Given the description of an element on the screen output the (x, y) to click on. 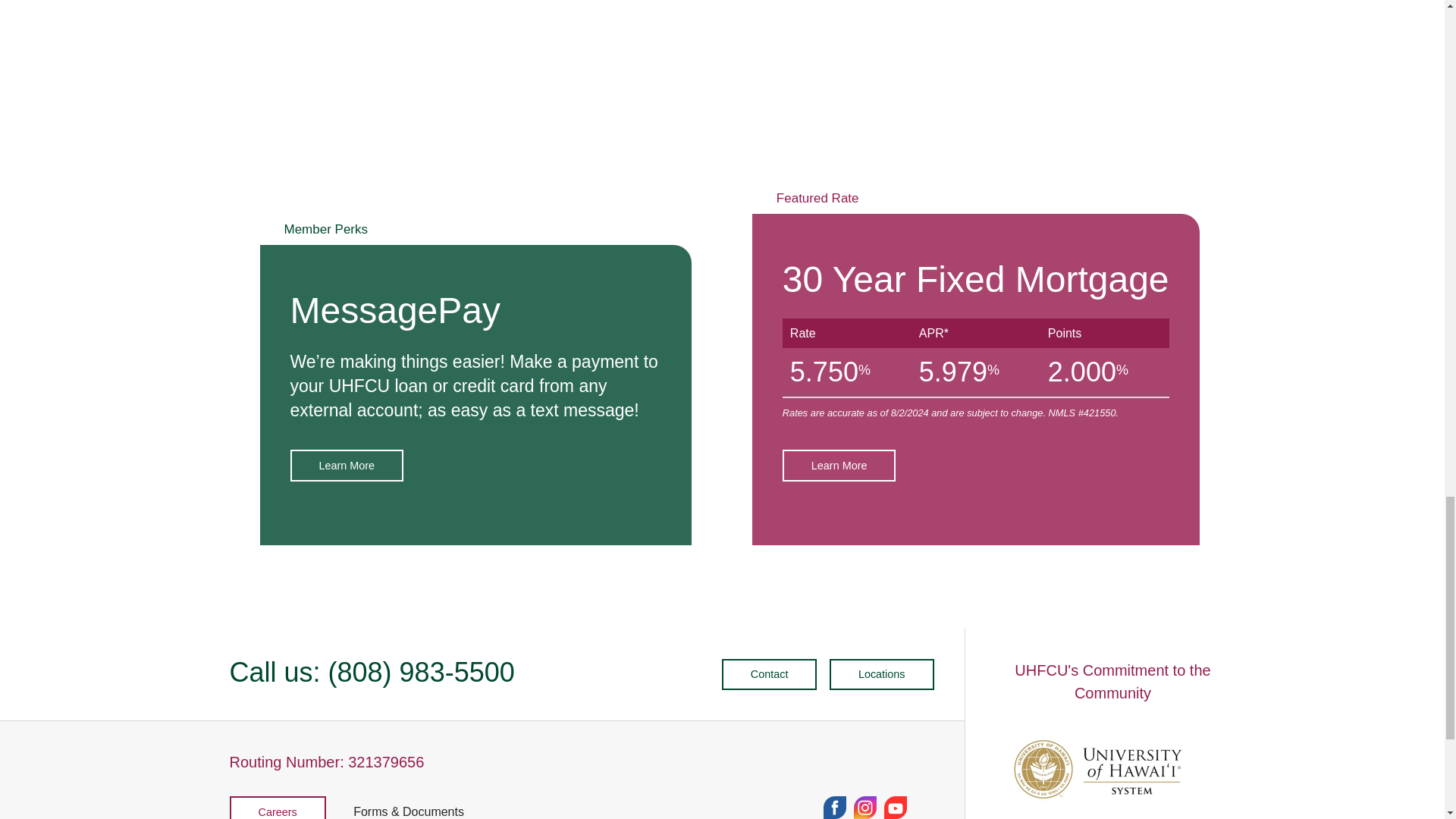
University of Hawai'i System (1101, 769)
